Given the description of an element on the screen output the (x, y) to click on. 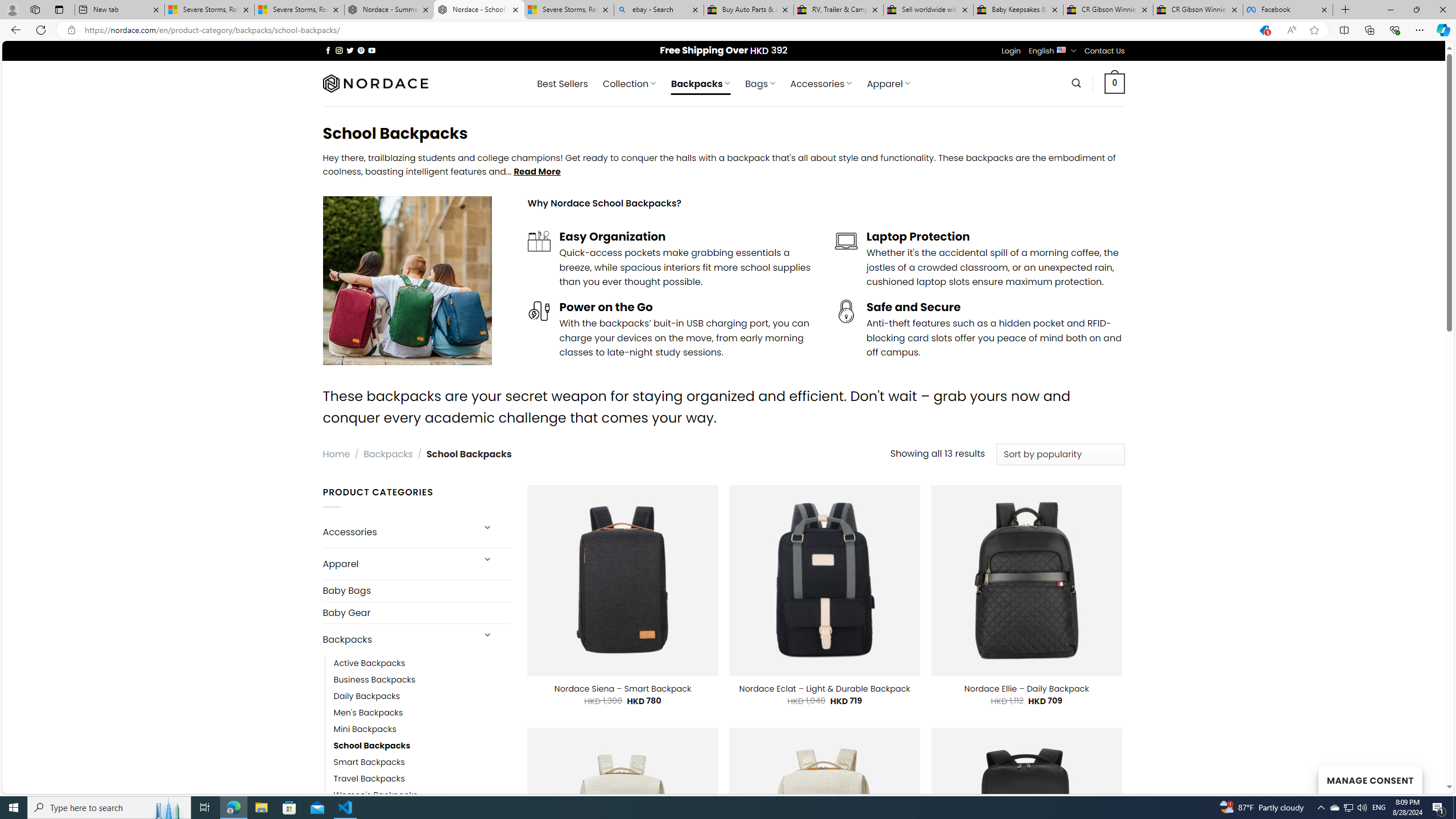
Women's Backpacks (375, 795)
 Best Sellers (562, 83)
